Given the description of an element on the screen output the (x, y) to click on. 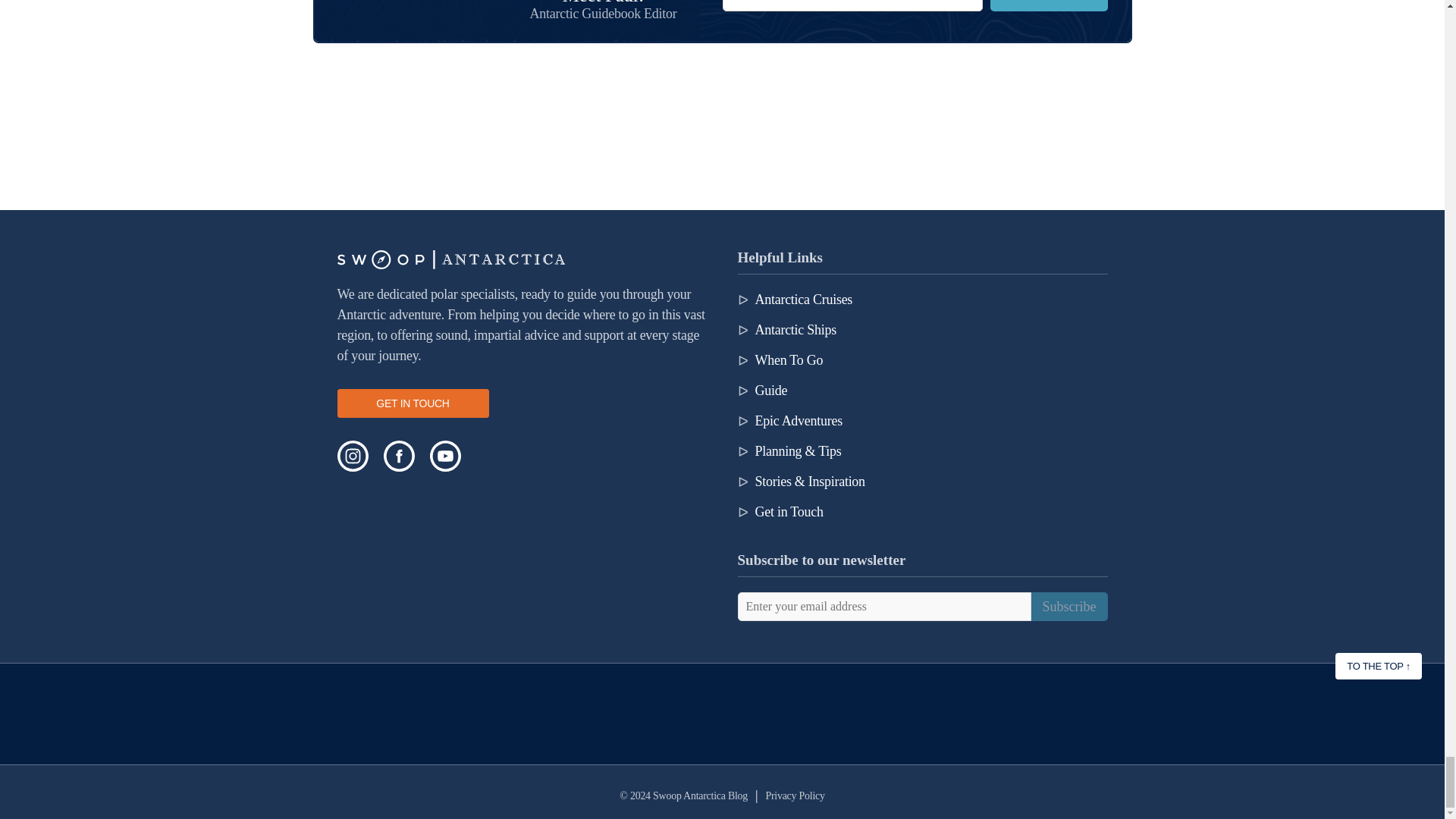
Subscribe (1048, 6)
YouTube (444, 455)
Facebook (399, 455)
Instagram (352, 455)
